Given the description of an element on the screen output the (x, y) to click on. 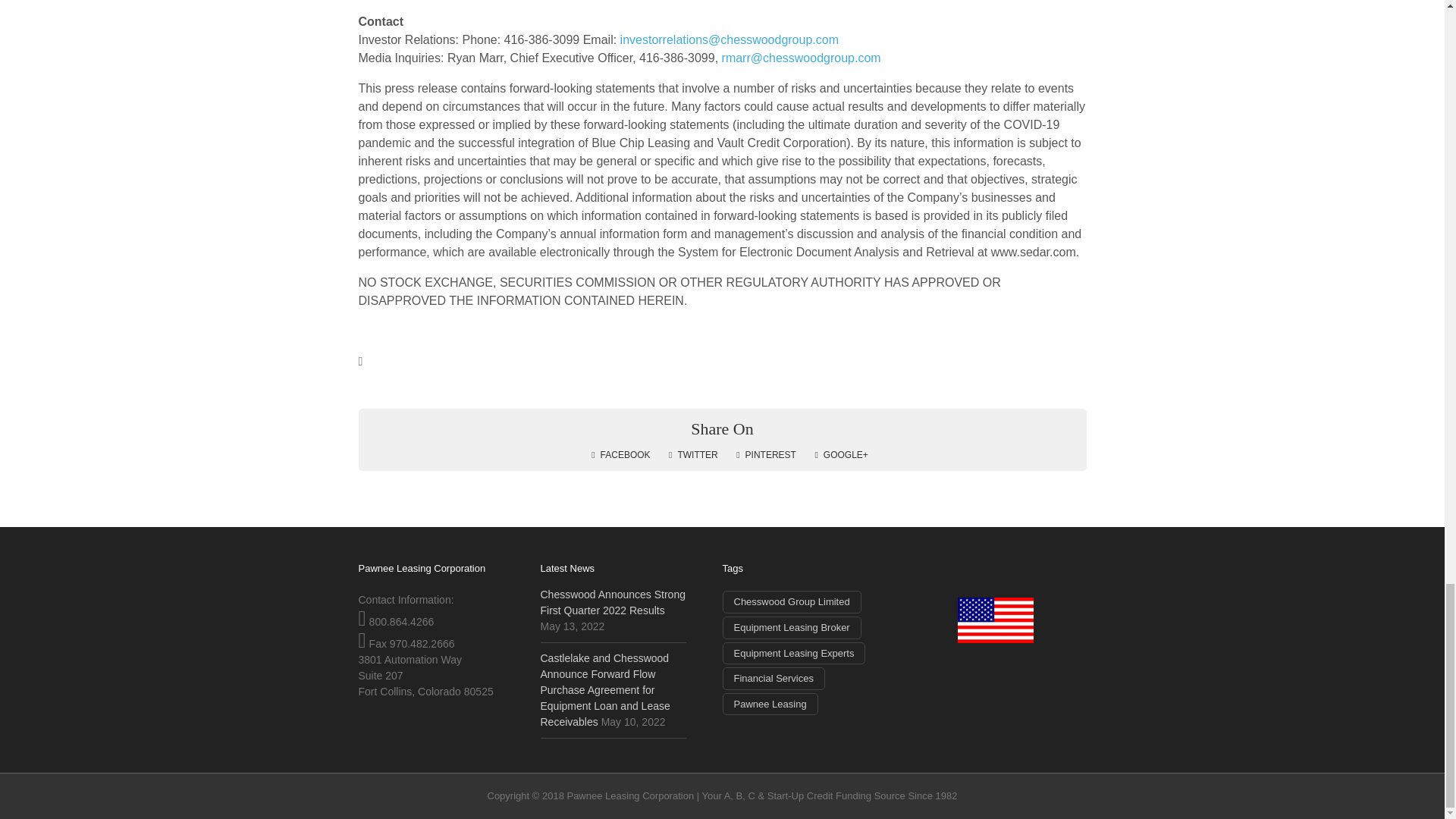
TWITTER (692, 454)
Chesswood Announces Strong First Quarter 2022 Results (612, 602)
FACEBOOK (620, 454)
Equipment Leasing Experts (793, 653)
Equipment Leasing Broker (791, 627)
Chesswood Group Limited (791, 601)
Pawnee Leasing (769, 703)
Financial Services (773, 678)
PINTEREST (766, 454)
